Given the description of an element on the screen output the (x, y) to click on. 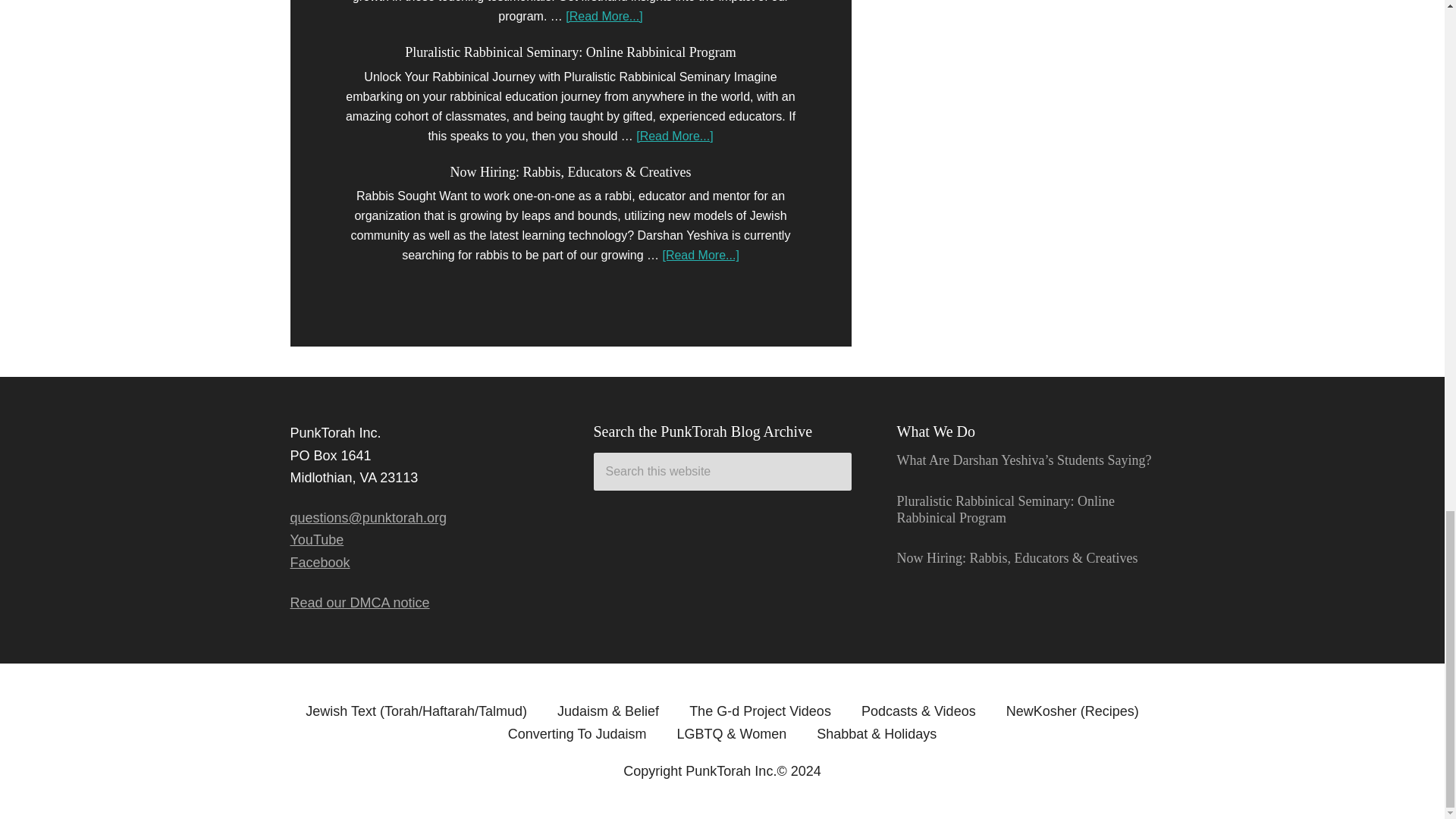
YouTube (316, 539)
Pluralistic Rabbinical Seminary: Online Rabbinical Program (569, 52)
Facebook (319, 562)
